Given the description of an element on the screen output the (x, y) to click on. 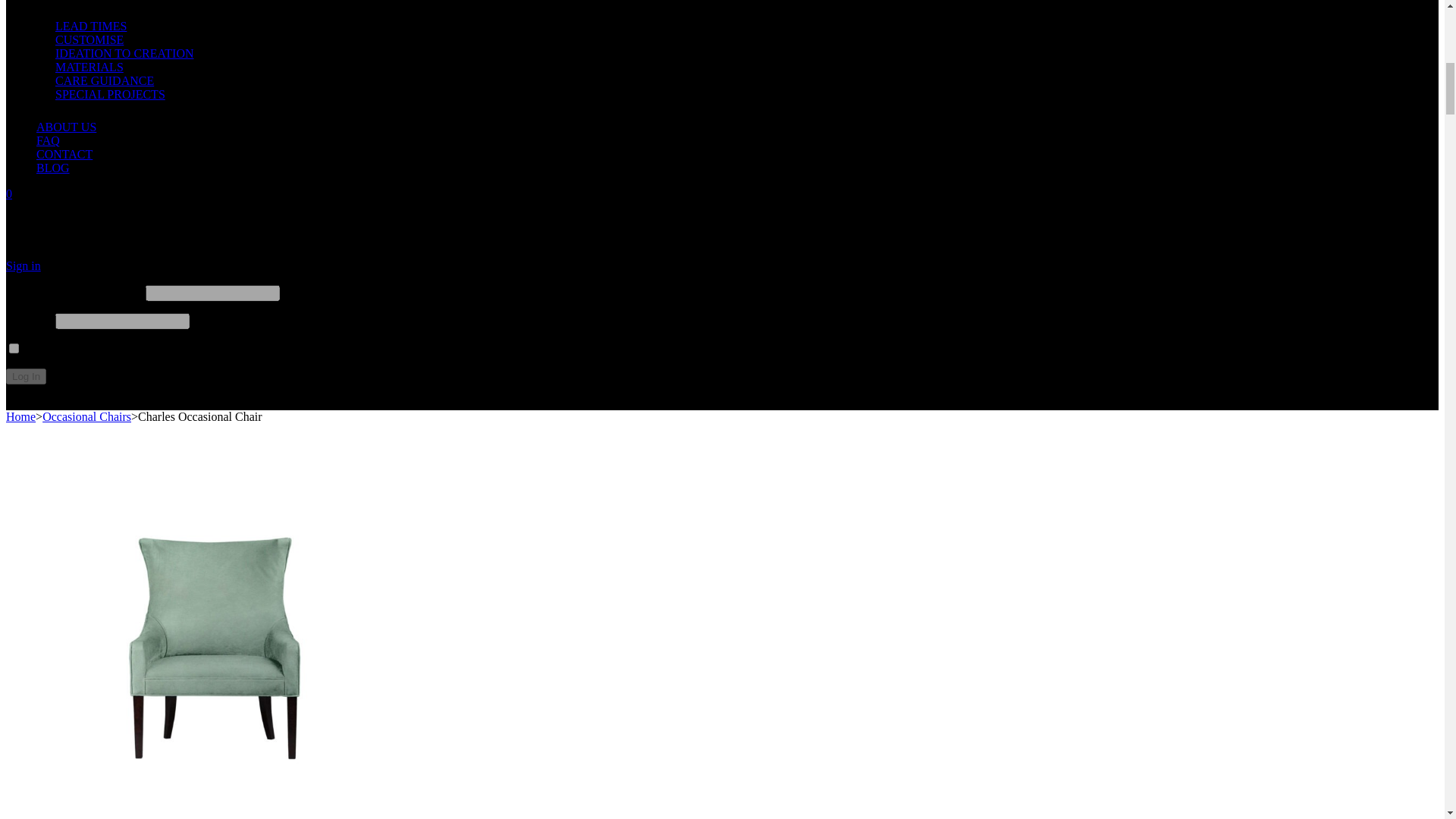
Log In (25, 376)
Sign in (22, 265)
forever (13, 347)
